Given the description of an element on the screen output the (x, y) to click on. 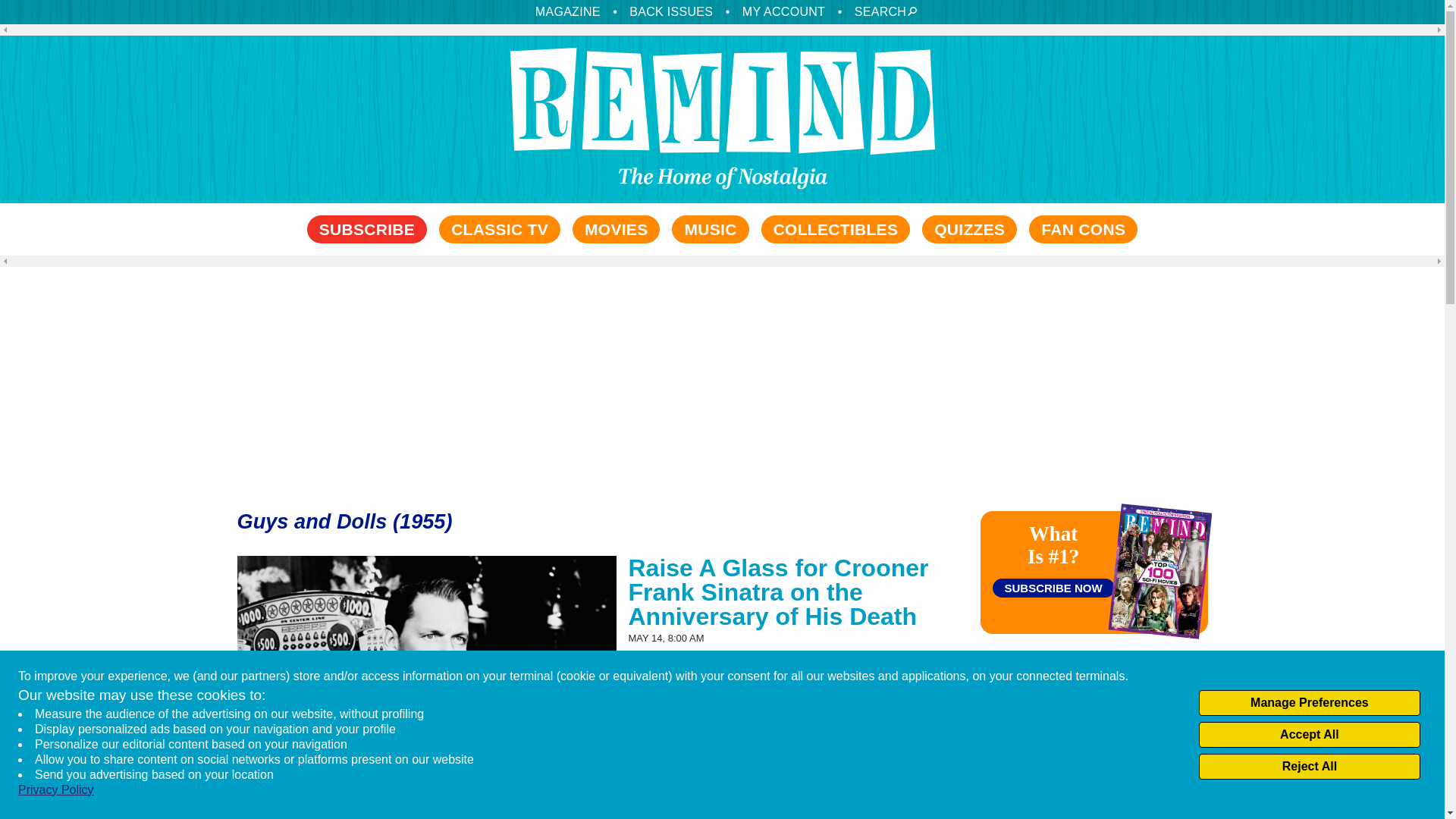
MOVIES (616, 229)
COLLECTIBLES (835, 229)
BACK ISSUES (670, 11)
Accept All (1309, 734)
SEARCH (881, 11)
MY ACCOUNT (783, 11)
SUBSCRIBE NOW (1052, 587)
Reject All (1309, 766)
Privacy Policy (55, 789)
MUSIC (710, 229)
QUIZZES (969, 229)
CLASSIC TV (499, 229)
FAN CONS (1083, 229)
SUBSCRIBE (366, 229)
MAGAZINE (567, 11)
